Given the description of an element on the screen output the (x, y) to click on. 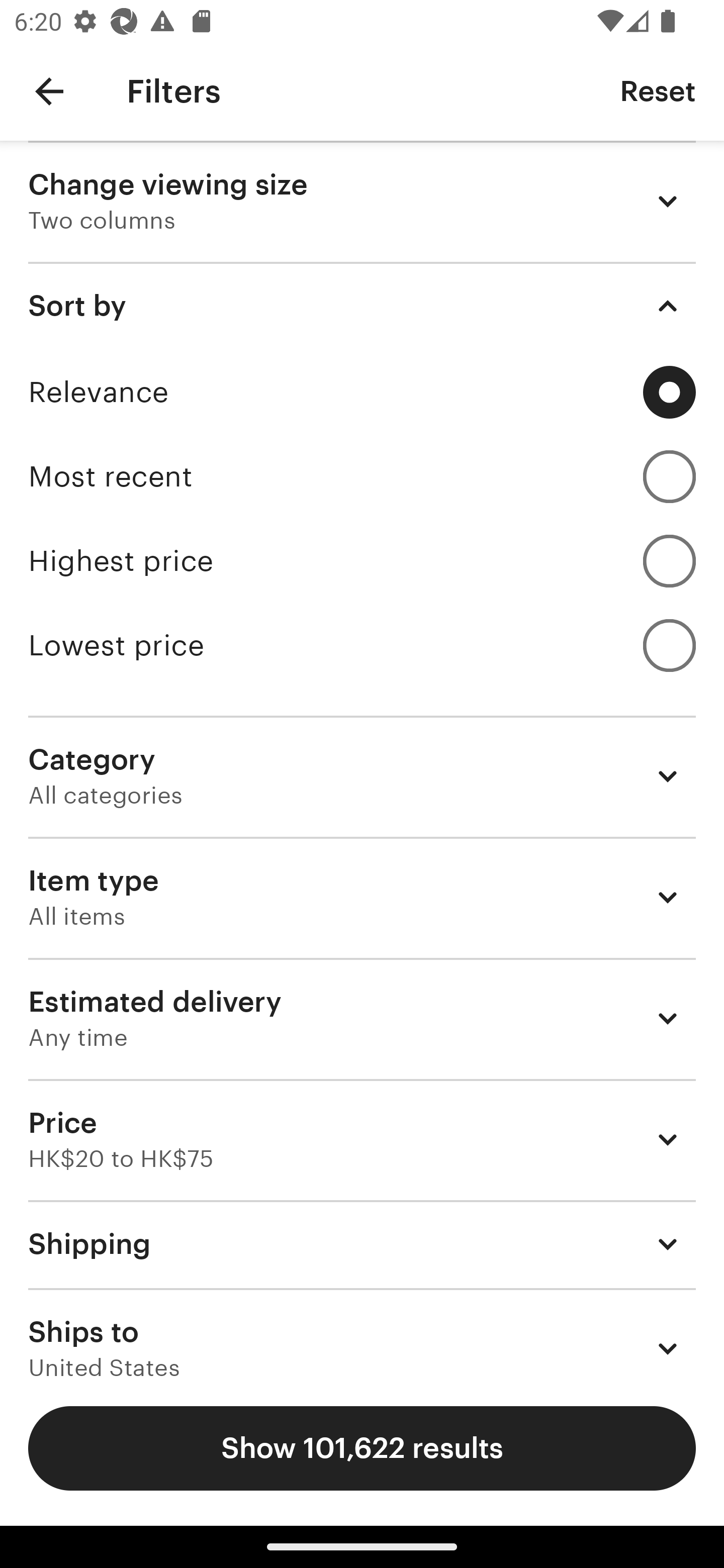
Navigate up (49, 91)
Reset (657, 90)
Change viewing size Two columns (362, 201)
Sort by (362, 305)
Relevance (362, 391)
Most recent (362, 476)
Highest price (362, 561)
Lowest price (362, 644)
Category All categories (362, 776)
Item type All items (362, 897)
Estimated delivery Any time (362, 1018)
Price HK$20 to HK$75 (362, 1138)
Shipping (362, 1243)
Ships to United States (362, 1332)
Show 101,622 results Show results (361, 1448)
